Given the description of an element on the screen output the (x, y) to click on. 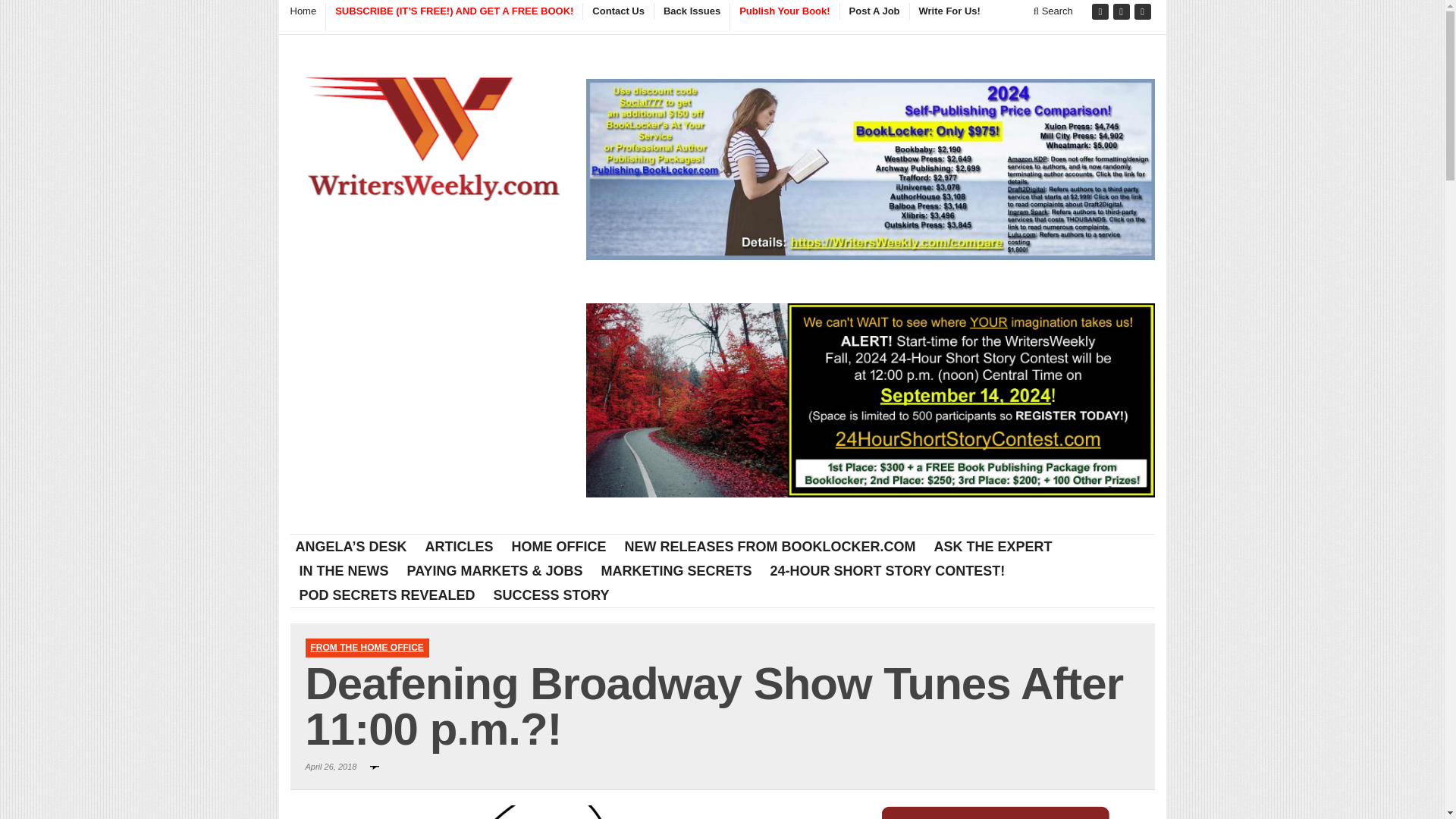
Post A Job (874, 11)
24-HOUR SHORT STORY CONTEST! (887, 570)
ASK THE EXPERT (992, 546)
Write For Us! (949, 11)
ARTICLES (459, 546)
Deafening Broadway Show Tunes After 11:00 p.m.?! (574, 812)
Site feed (1144, 11)
IN THE NEWS (343, 570)
MARKETING SECRETS (676, 570)
SUCCESS STORY (551, 595)
